Given the description of an element on the screen output the (x, y) to click on. 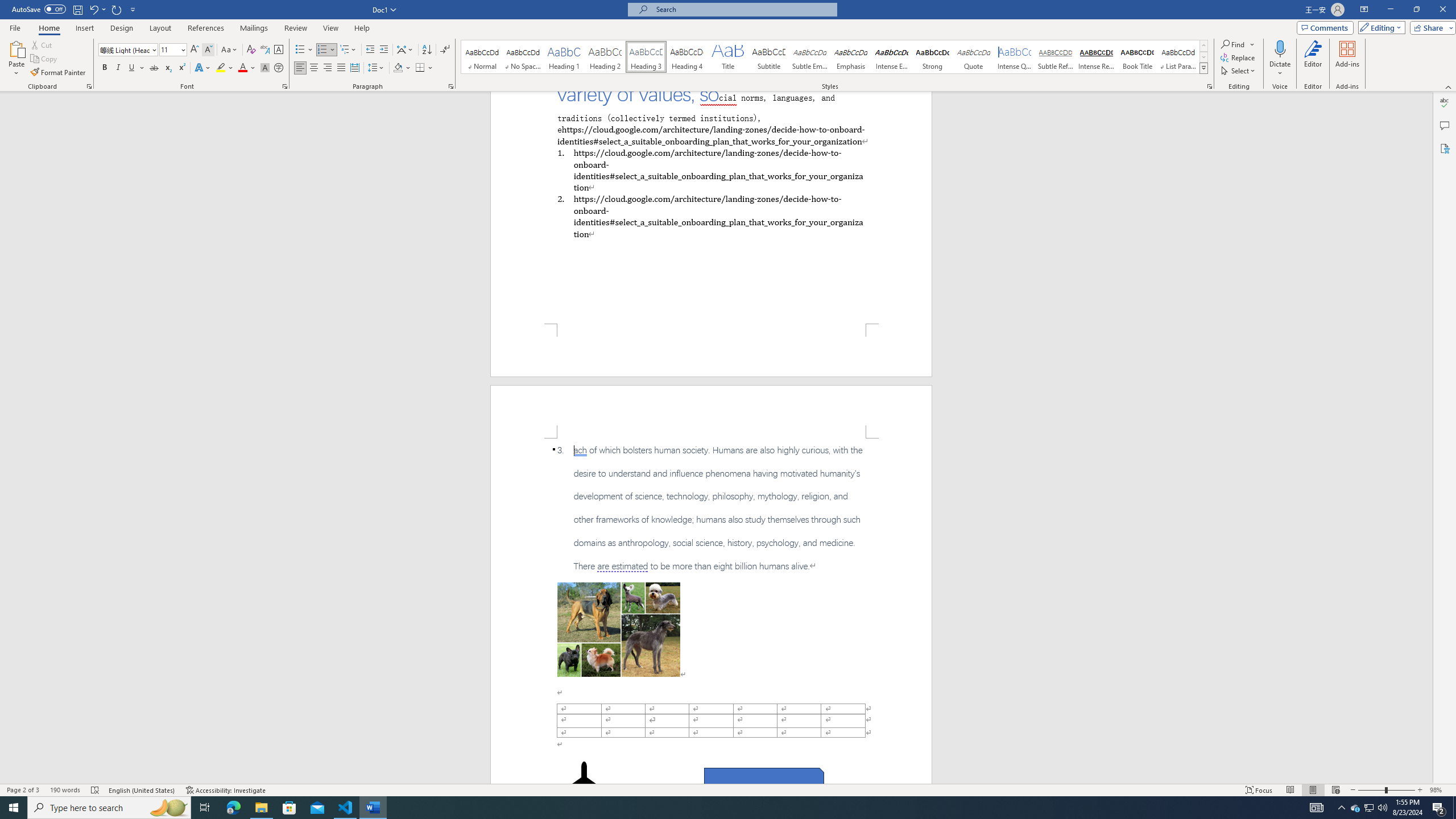
Shading RGB(0, 0, 0) (397, 67)
Text Highlight Color (224, 67)
Accessibility Checker Accessibility: Investigate (226, 790)
Decrease Indent (370, 49)
Replace... (1237, 56)
Align Left (300, 67)
Subtitle (768, 56)
Heading 2 (605, 56)
Intense Quote (1014, 56)
